Given the description of an element on the screen output the (x, y) to click on. 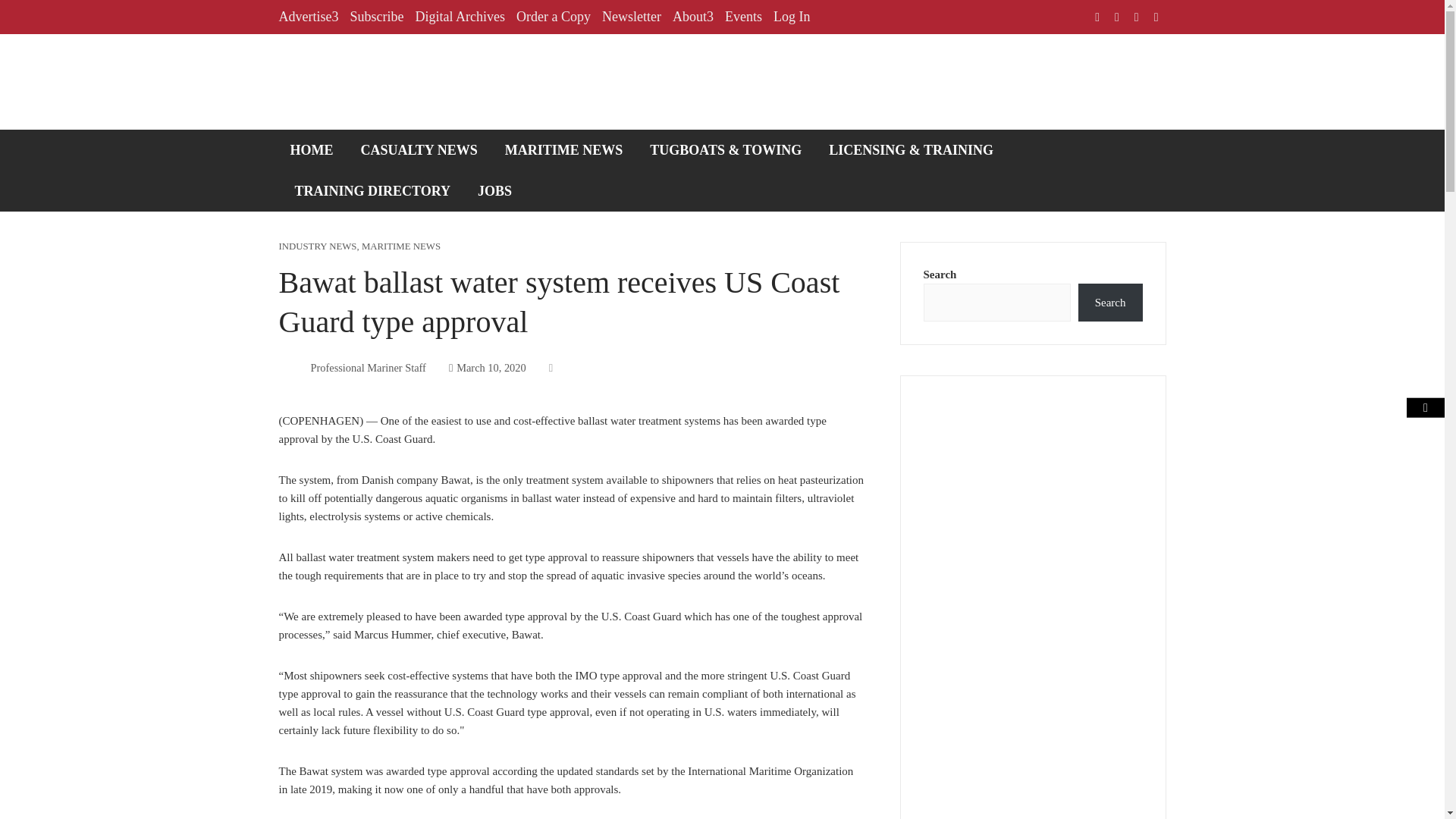
INDUSTRY NEWS (317, 246)
CASUALTY NEWS (418, 149)
HOME (312, 149)
Subscribe (376, 17)
Advertise (309, 17)
Events (743, 17)
Log In (791, 17)
Order a Copy (553, 17)
Digital Archives (458, 17)
MARITIME NEWS (563, 149)
